Given the description of an element on the screen output the (x, y) to click on. 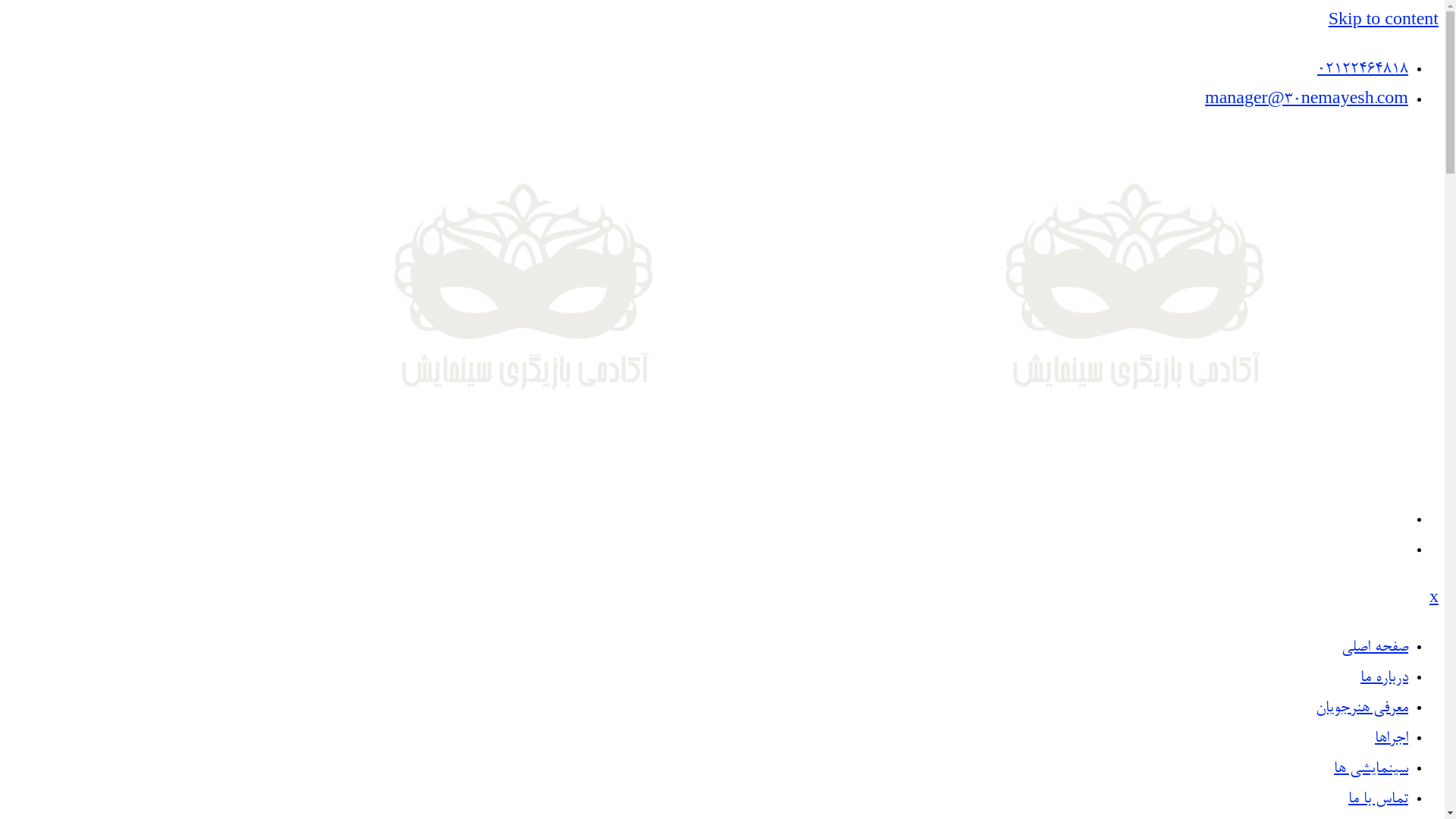
Skip to content Element type: text (1383, 21)
manager@30nemayesh.com Element type: text (1306, 100)
02122464818 Element type: text (1362, 69)
x Element type: text (1433, 598)
